Given the description of an element on the screen output the (x, y) to click on. 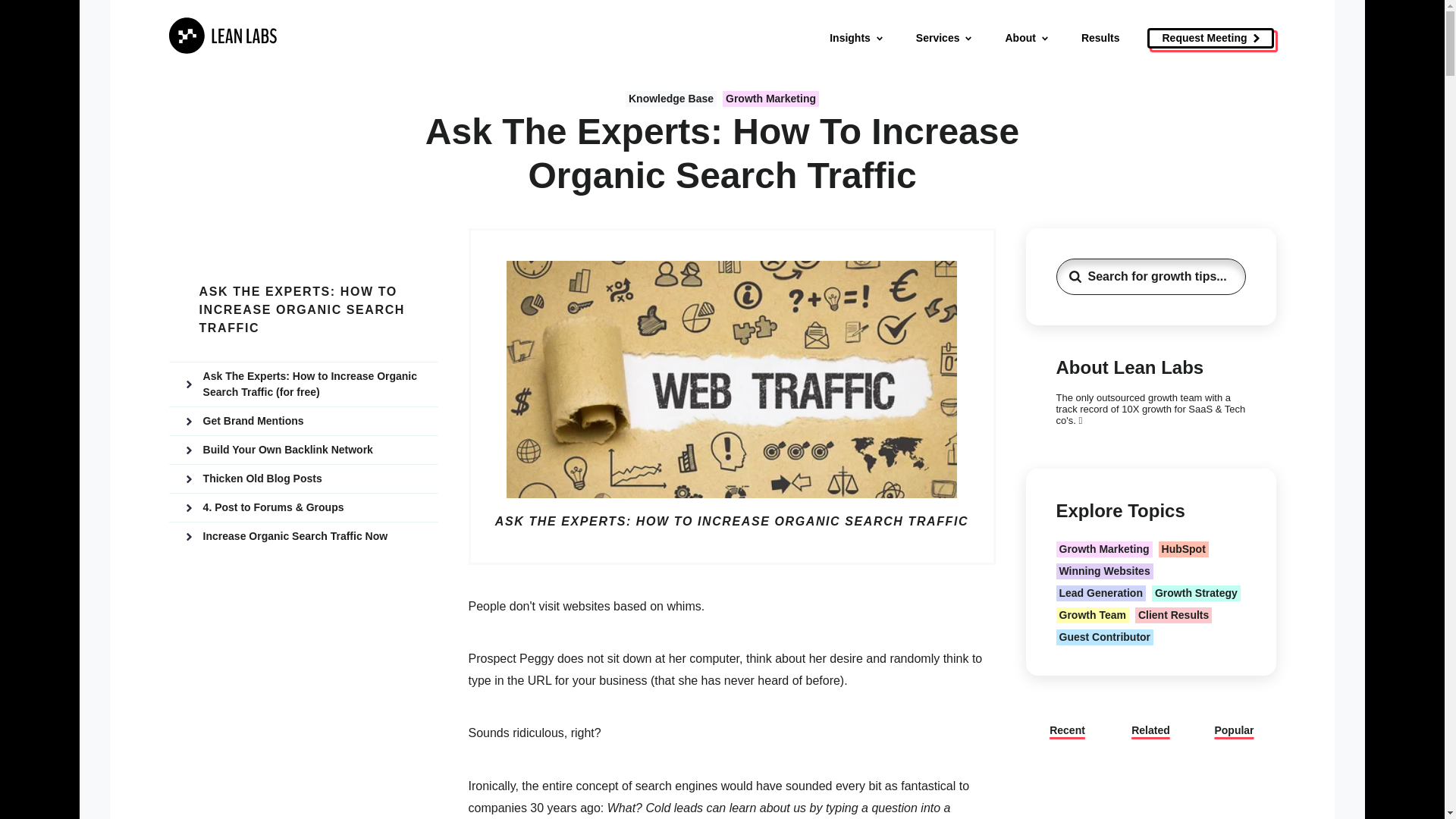
Request Meeting (1209, 37)
Services (945, 37)
About (1026, 37)
Results (1100, 38)
Insights (857, 37)
